Given the description of an element on the screen output the (x, y) to click on. 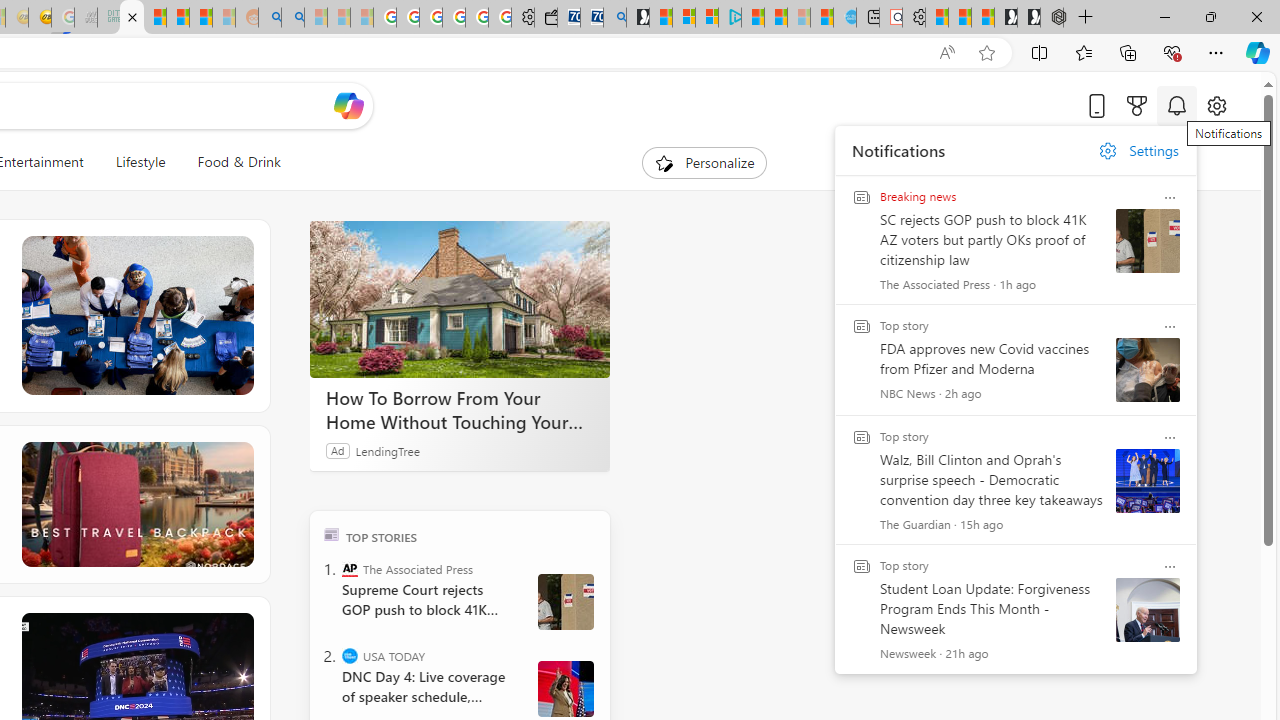
To get missing image descriptions, open the context menu. (664, 162)
Open settings (1216, 105)
USA TODAY (349, 655)
Food & Drink (230, 162)
